Given the description of an element on the screen output the (x, y) to click on. 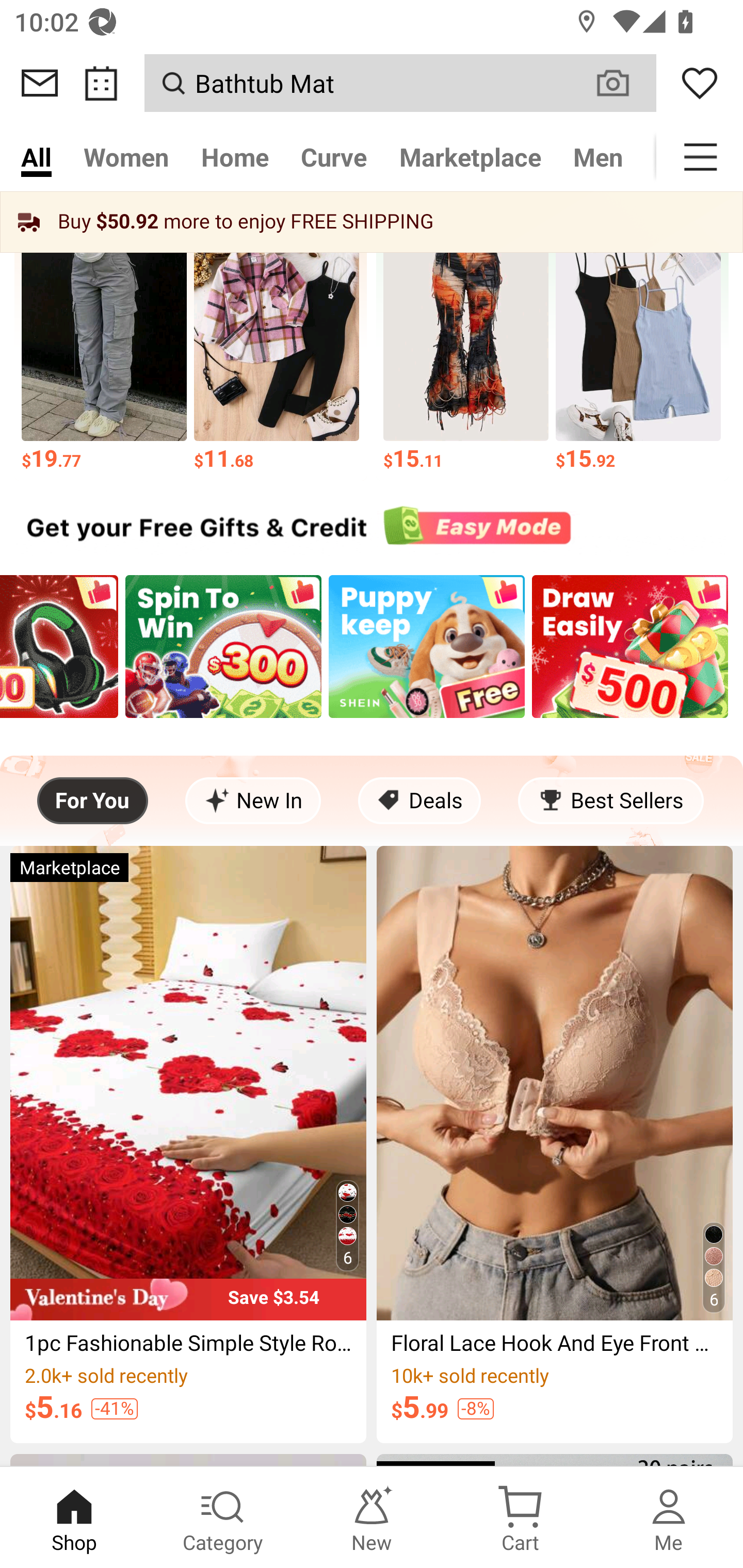
Wishlist (699, 82)
VISUAL SEARCH (623, 82)
All (36, 156)
Women (126, 156)
Home (234, 156)
Curve (333, 156)
Marketplace (470, 156)
Men (597, 156)
Buy $50.92 more to enjoy FREE SHIPPING (371, 221)
$19.77 Price $19.77 (103, 347)
$11.68 Price $11.68 (276, 347)
$15.11 Price $15.11 (465, 347)
$15.92 Price $15.92 (638, 347)
New In (252, 800)
Deals (419, 800)
Best Sellers (610, 800)
Category (222, 1517)
New (371, 1517)
Cart (519, 1517)
Me (668, 1517)
